Given the description of an element on the screen output the (x, y) to click on. 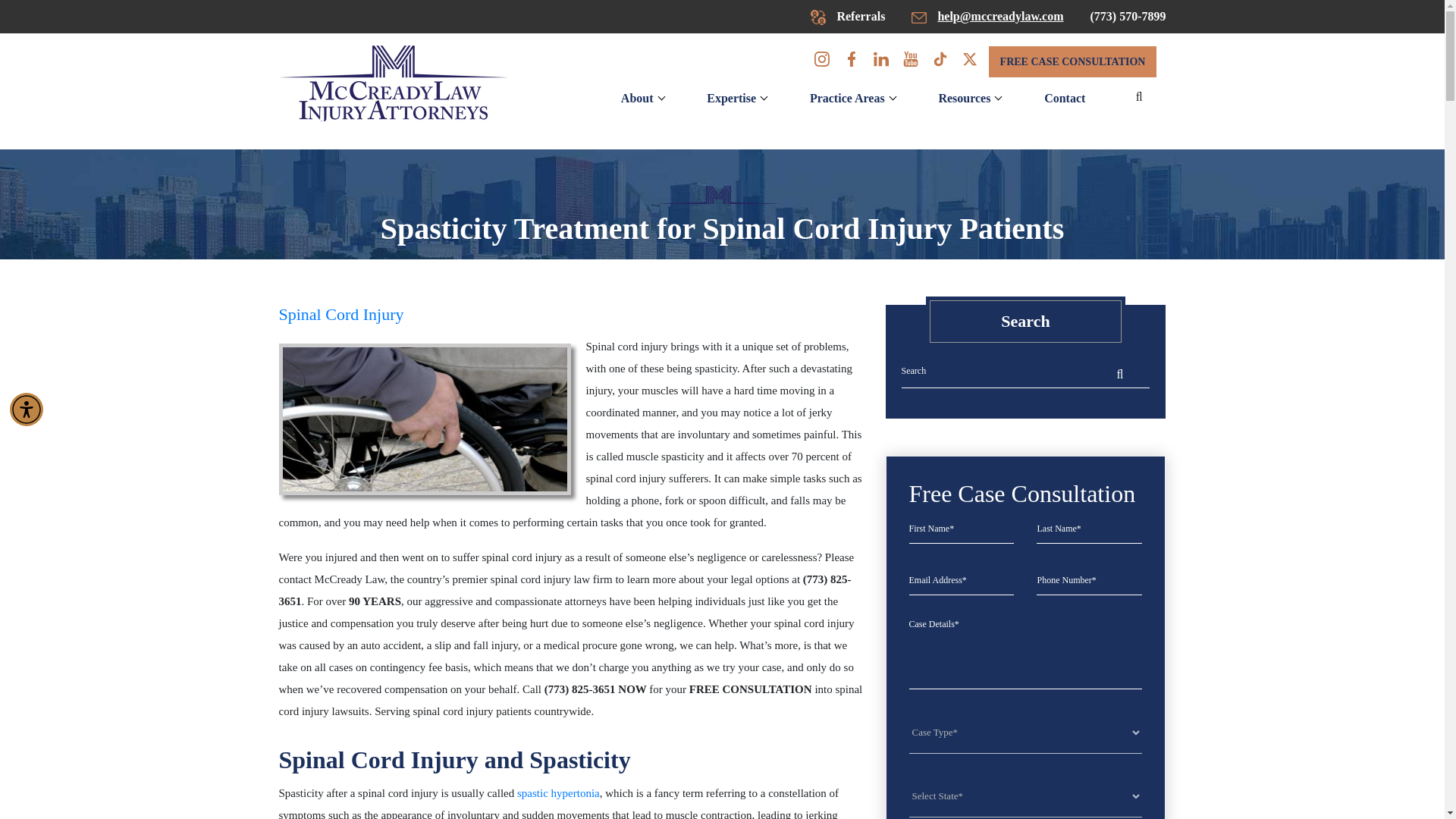
Expertise (730, 98)
McCready Law on YouTube (910, 61)
Legal Services Offered (847, 98)
McCready Law on Tik Tok (940, 61)
About (636, 98)
McCready Law on Facebook (851, 61)
About McCready Law (636, 98)
Referrals (847, 15)
FREE CASE CONSULTATION (1072, 60)
McCready Law on Tik Tok (969, 61)
McCready Law on Linked In (880, 61)
McCready Law (392, 83)
McCready Law on Instagram (821, 61)
Practice Areas (847, 98)
Accessibility Menu (26, 409)
